Given the description of an element on the screen output the (x, y) to click on. 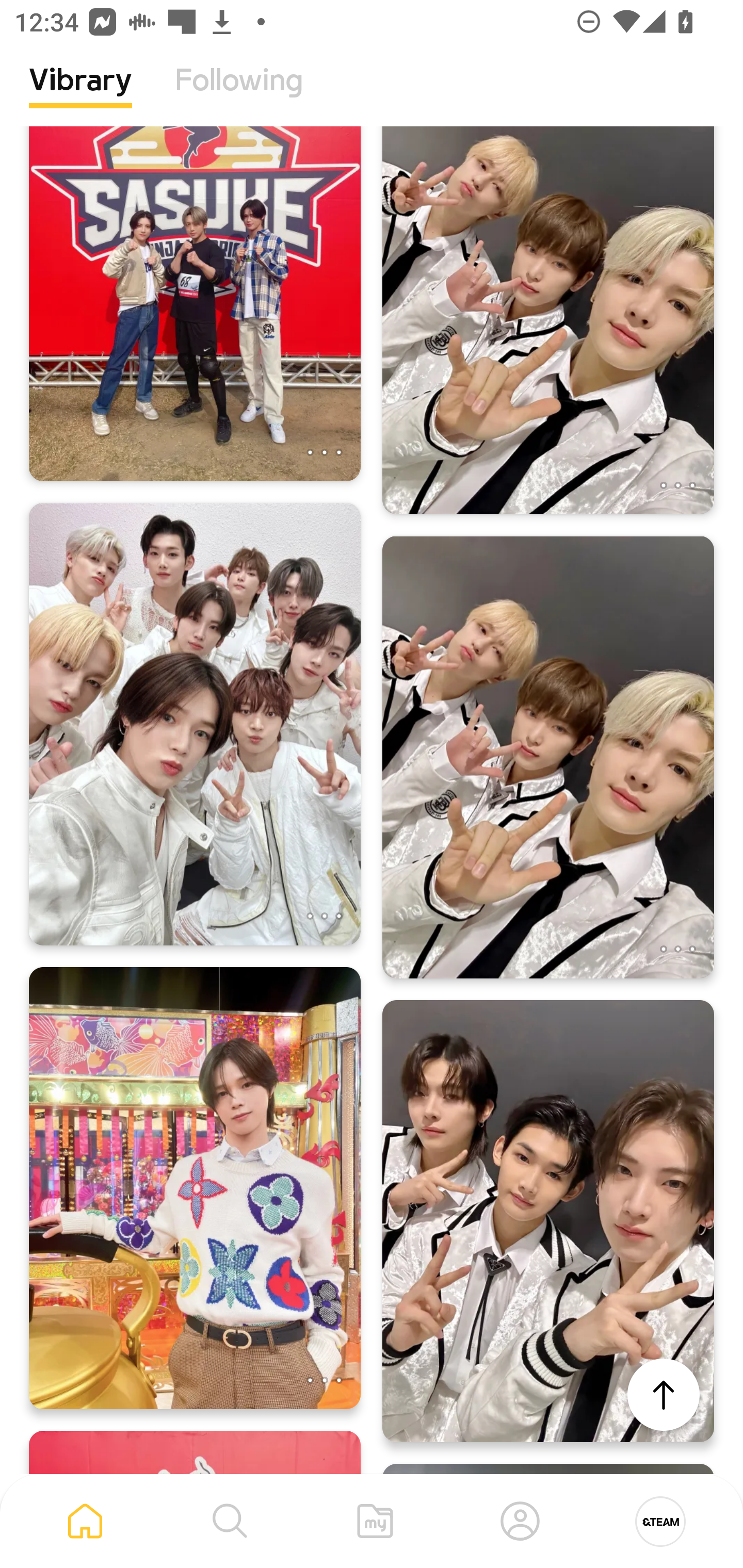
Vibrary (80, 95)
Following (239, 95)
